Given the description of an element on the screen output the (x, y) to click on. 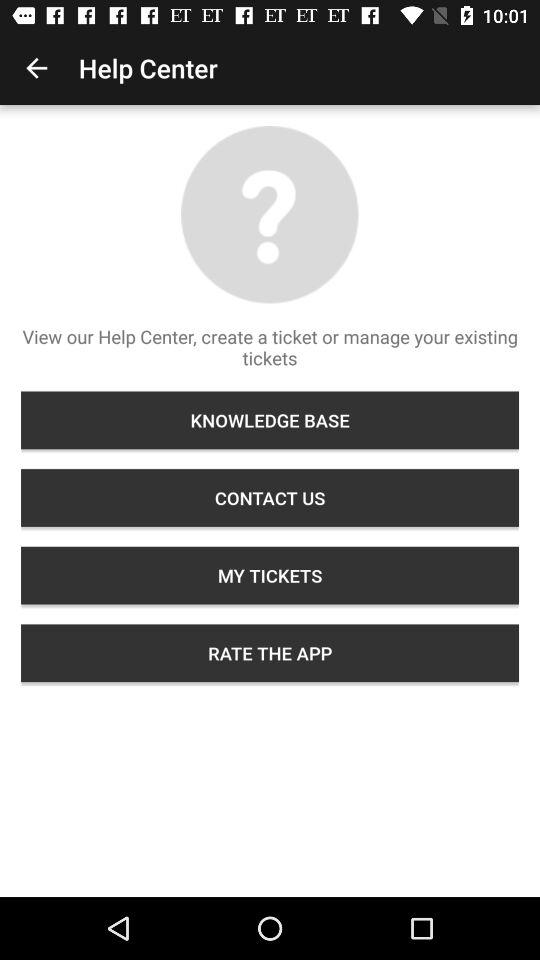
choose rate the app (270, 653)
